Given the description of an element on the screen output the (x, y) to click on. 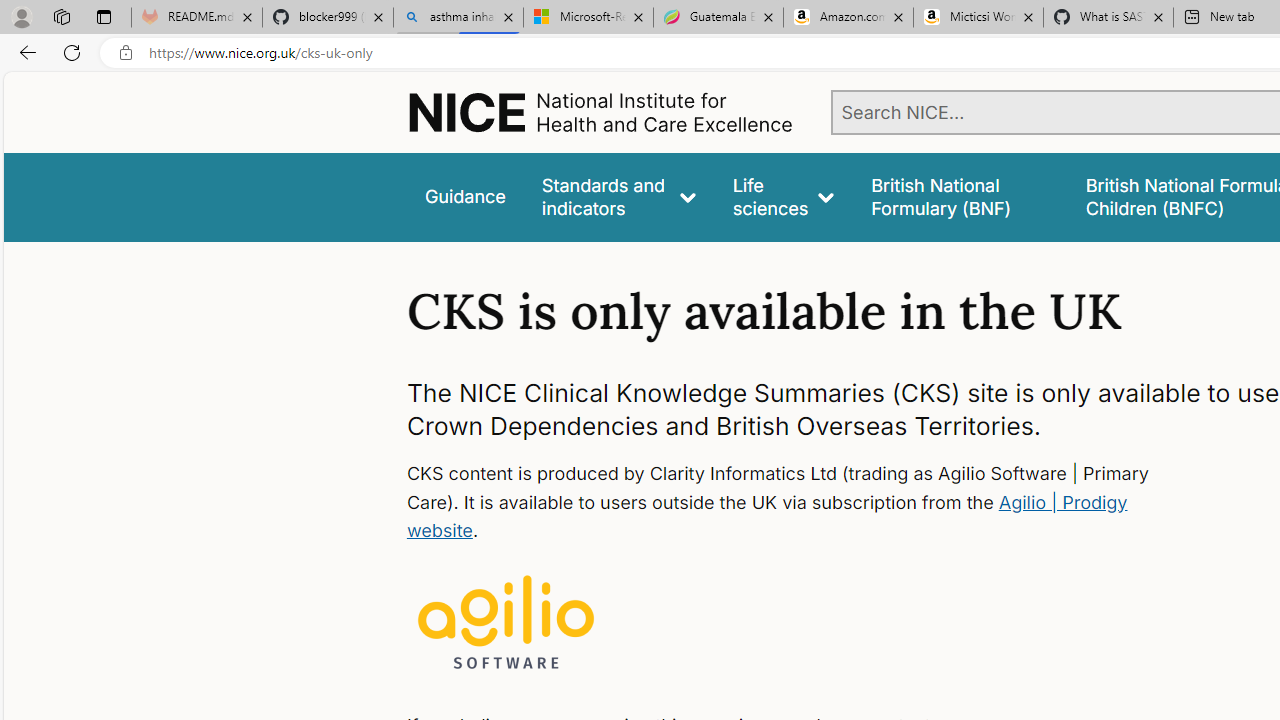
Guidance (464, 196)
Microsoft-Report a Concern to Bing (587, 17)
false (959, 196)
Logo for Clarity Consulting (505, 624)
asthma inhaler - Search (458, 17)
